Given the description of an element on the screen output the (x, y) to click on. 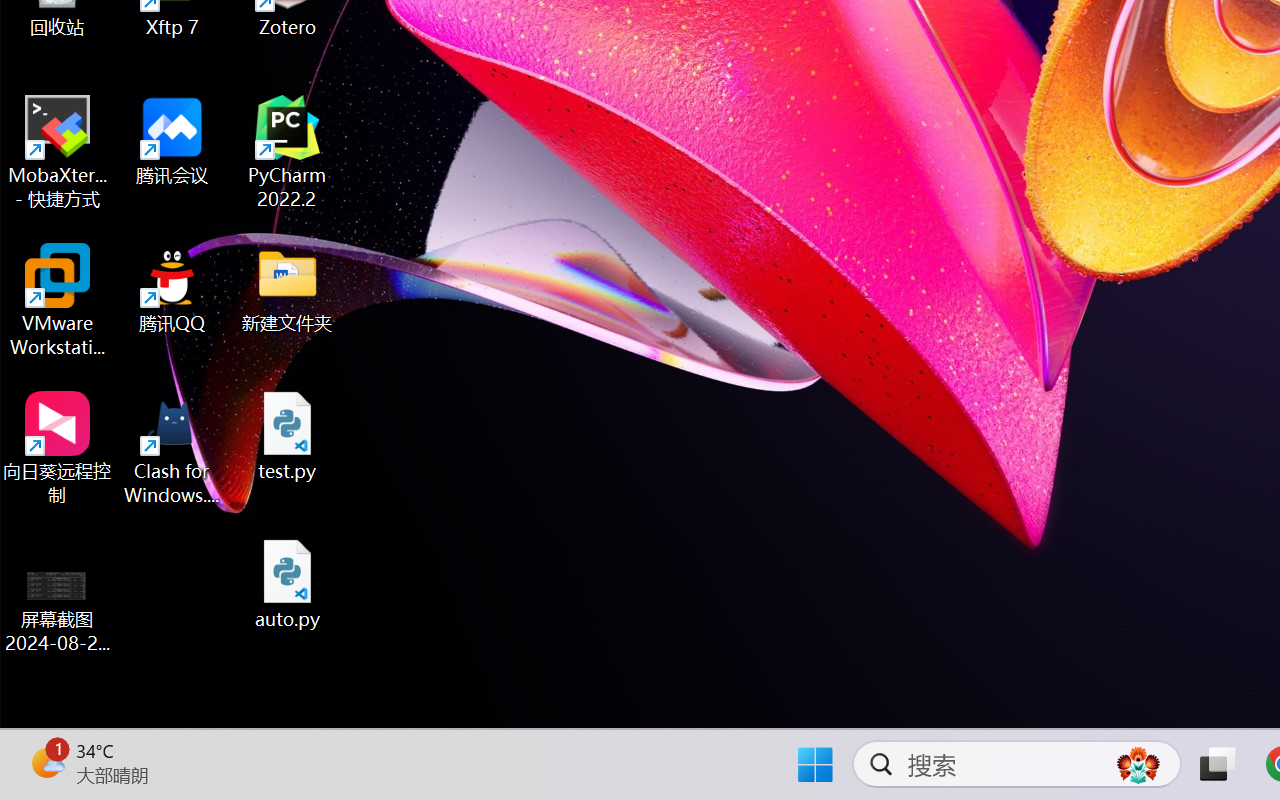
test.py (287, 436)
